Given the description of an element on the screen output the (x, y) to click on. 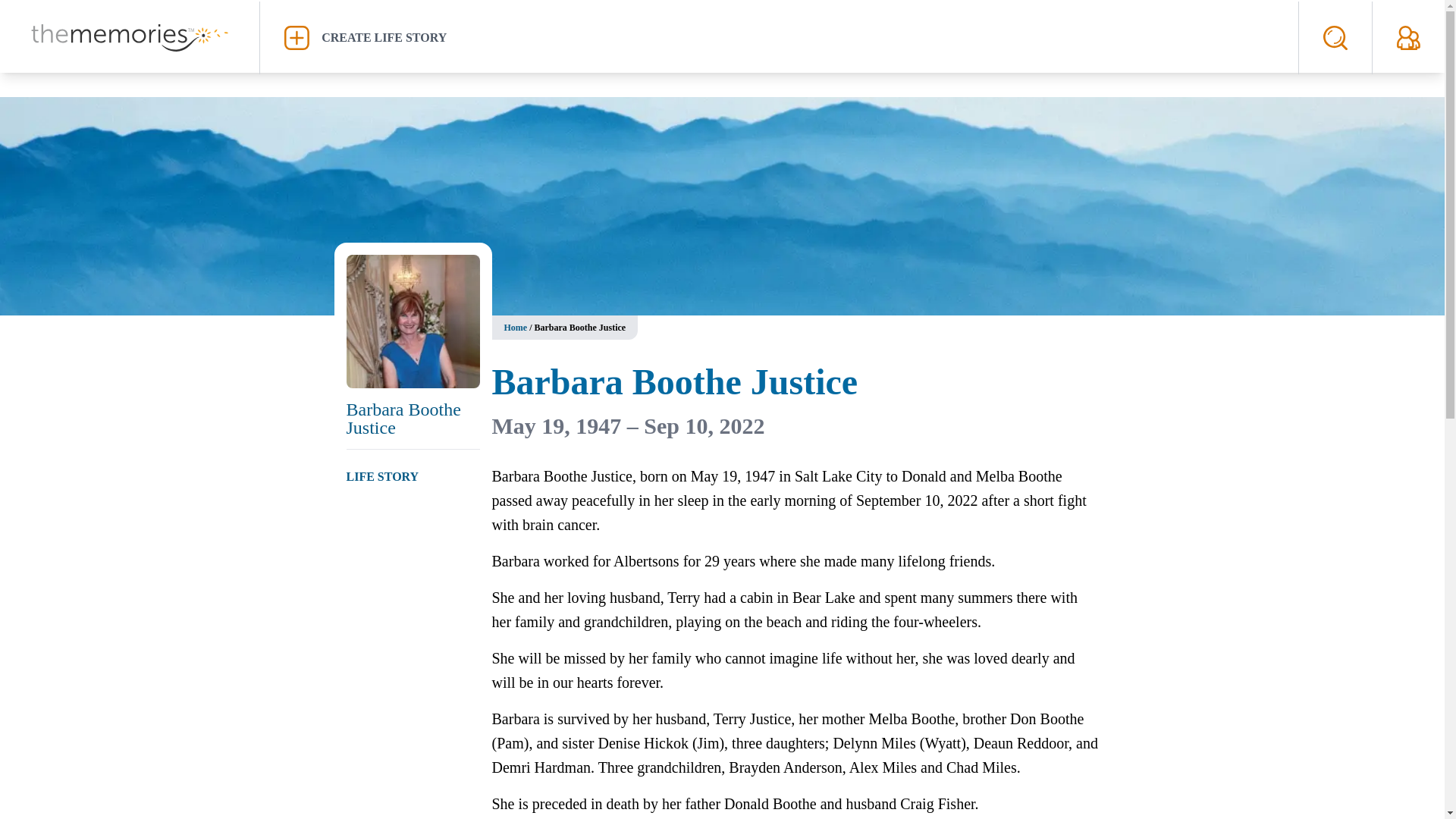
Create a life story (778, 37)
Home (515, 327)
LIFE STORY (382, 476)
My Account (1408, 37)
CREATE LIFE STORY (778, 37)
